Given the description of an element on the screen output the (x, y) to click on. 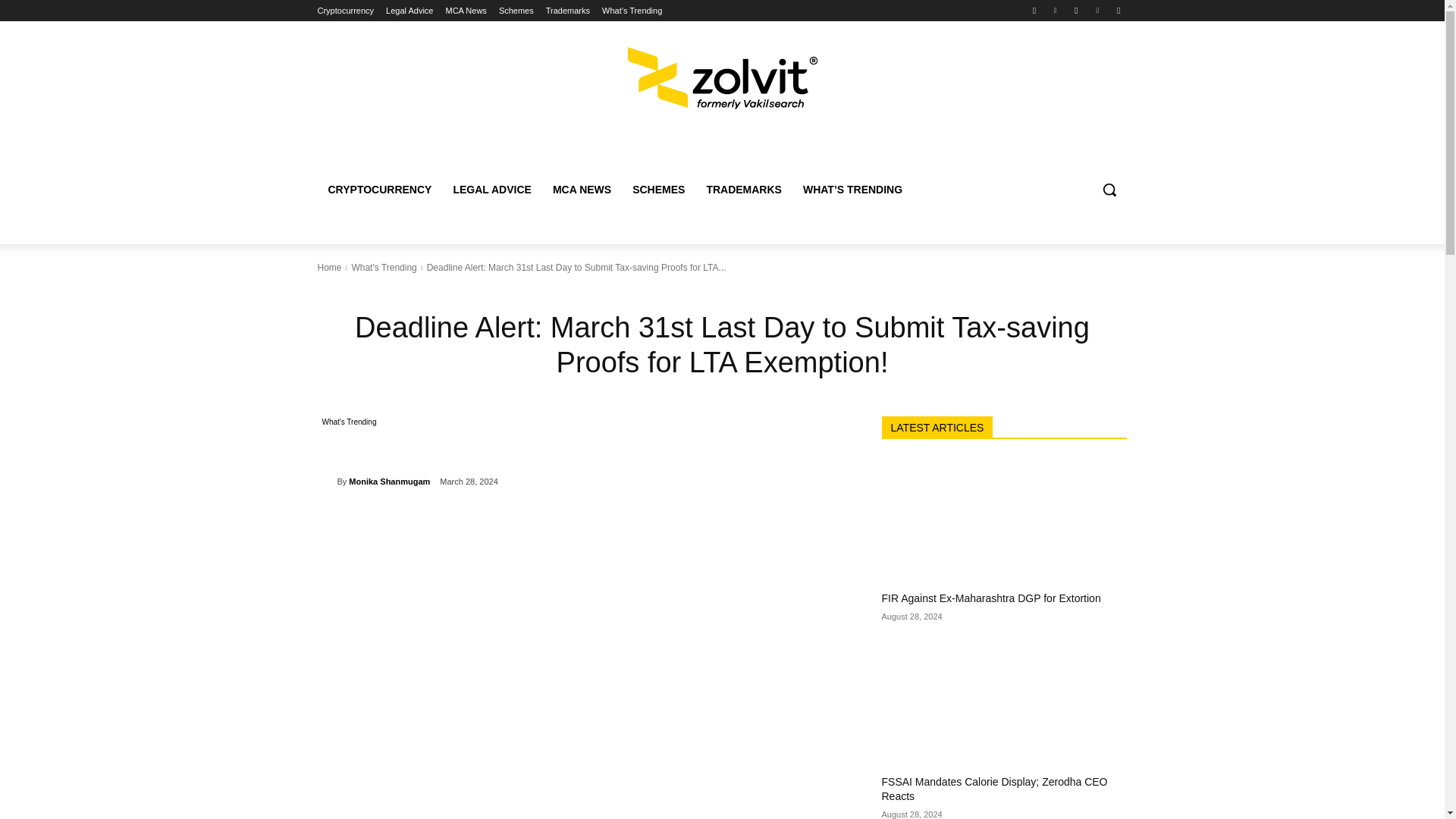
View all posts in What's Trending (383, 267)
MCA NEWS (581, 189)
Trademarks (567, 10)
Twitter (1055, 9)
Cryptocurrency (345, 10)
MCA News (465, 10)
Instagram (1075, 9)
Youtube (1117, 9)
Home (328, 267)
CRYPTOCURRENCY (379, 189)
